Given the description of an element on the screen output the (x, y) to click on. 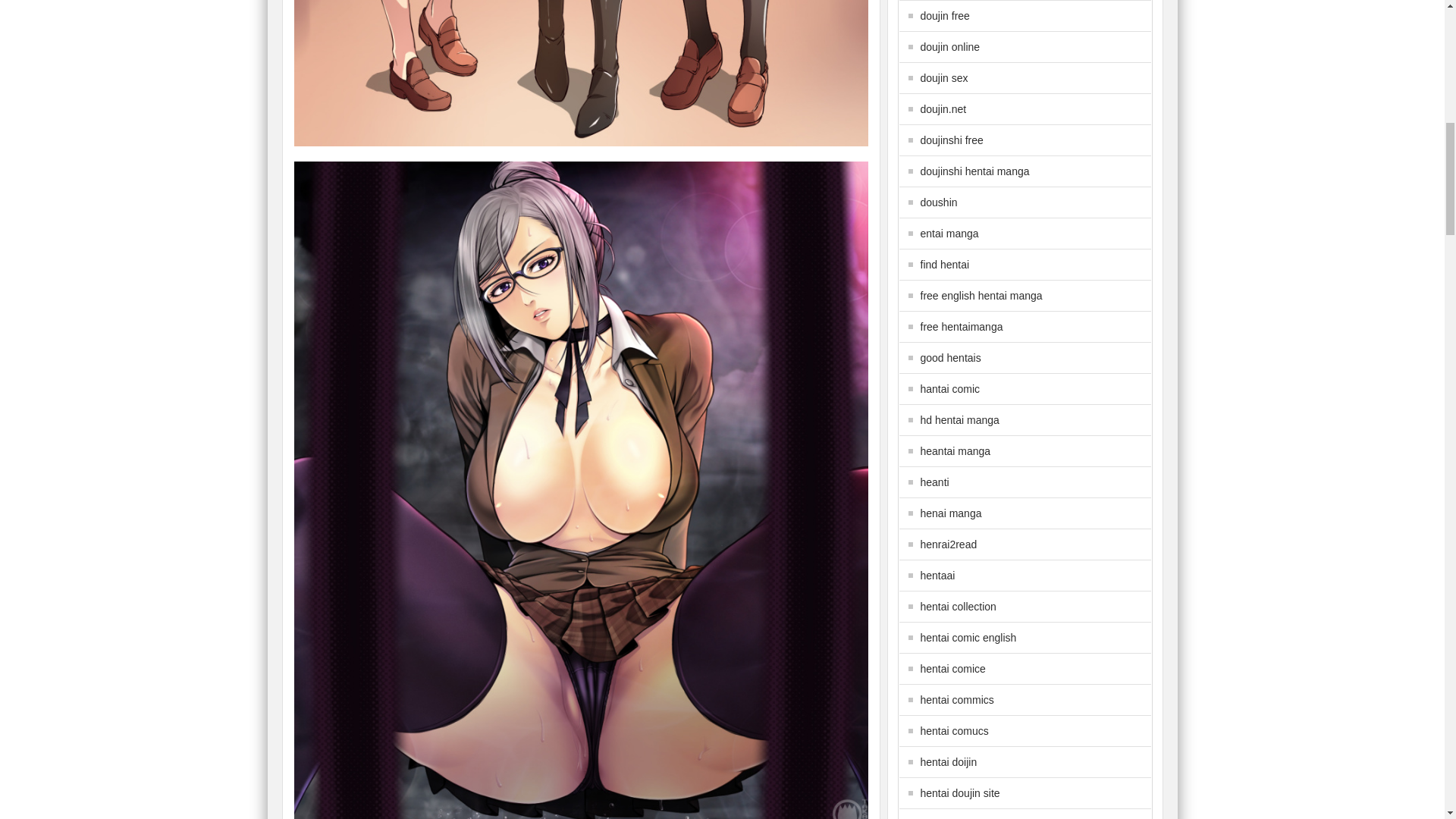
doujin free (938, 15)
doujin.net (937, 109)
doujinshi hentai manga (968, 171)
doushin (933, 202)
doujinshi free (946, 140)
doujin online (943, 46)
doujin sex (938, 78)
